Given the description of an element on the screen output the (x, y) to click on. 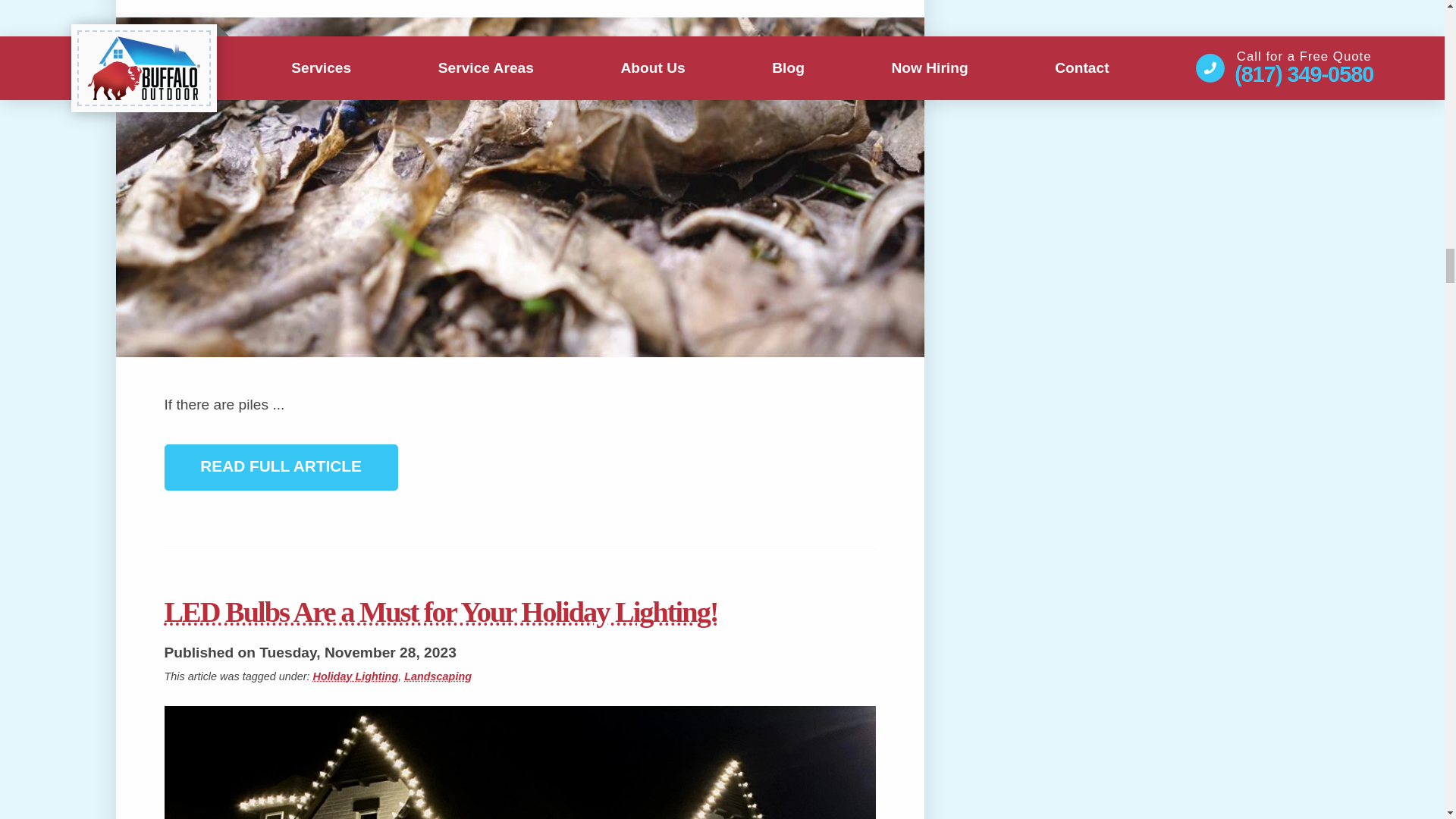
LED Bulbs Are a Must for Your Holiday Lighting! (519, 611)
